Given the description of an element on the screen output the (x, y) to click on. 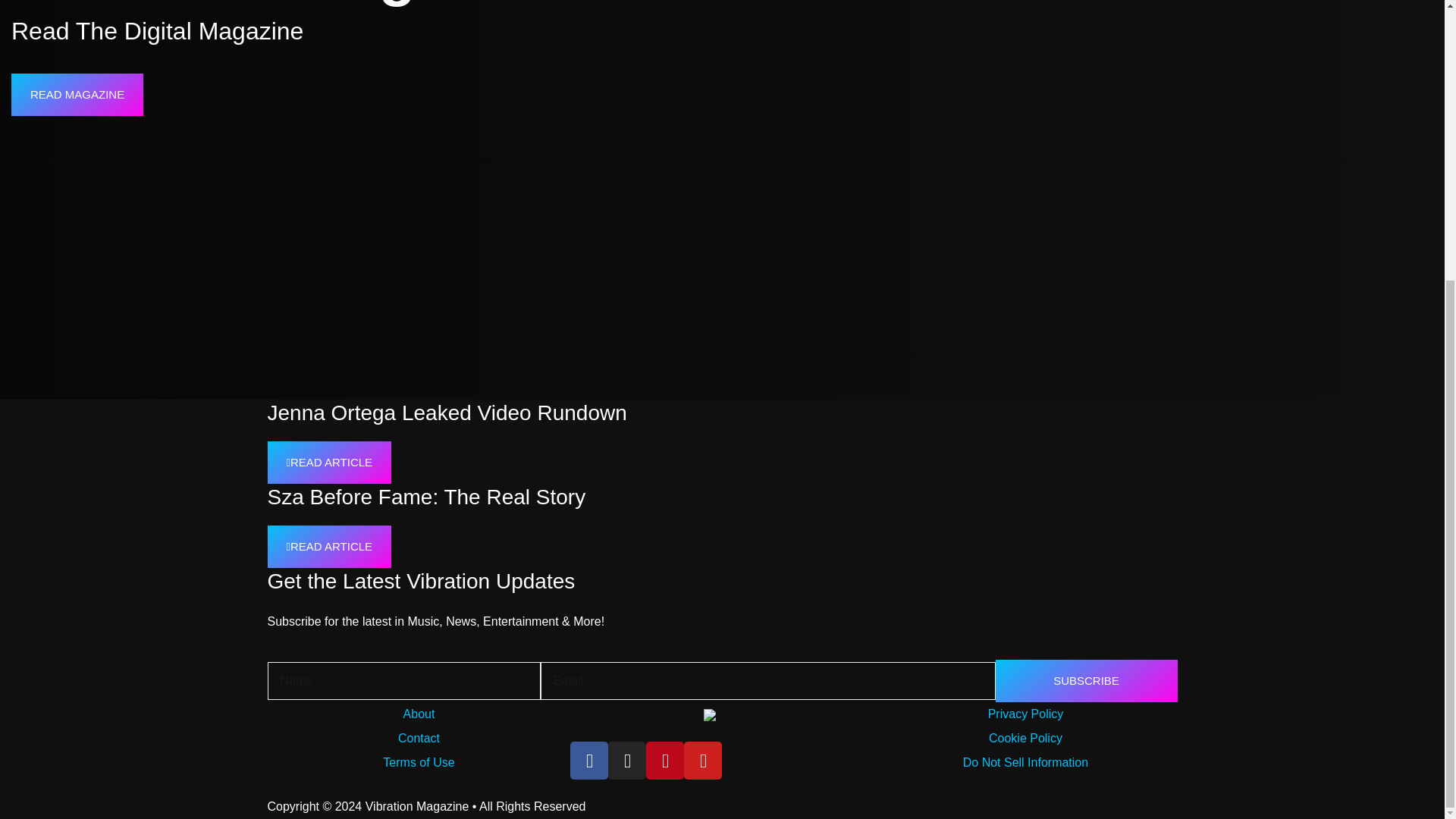
Home 1 (1075, 55)
